Given the description of an element on the screen output the (x, y) to click on. 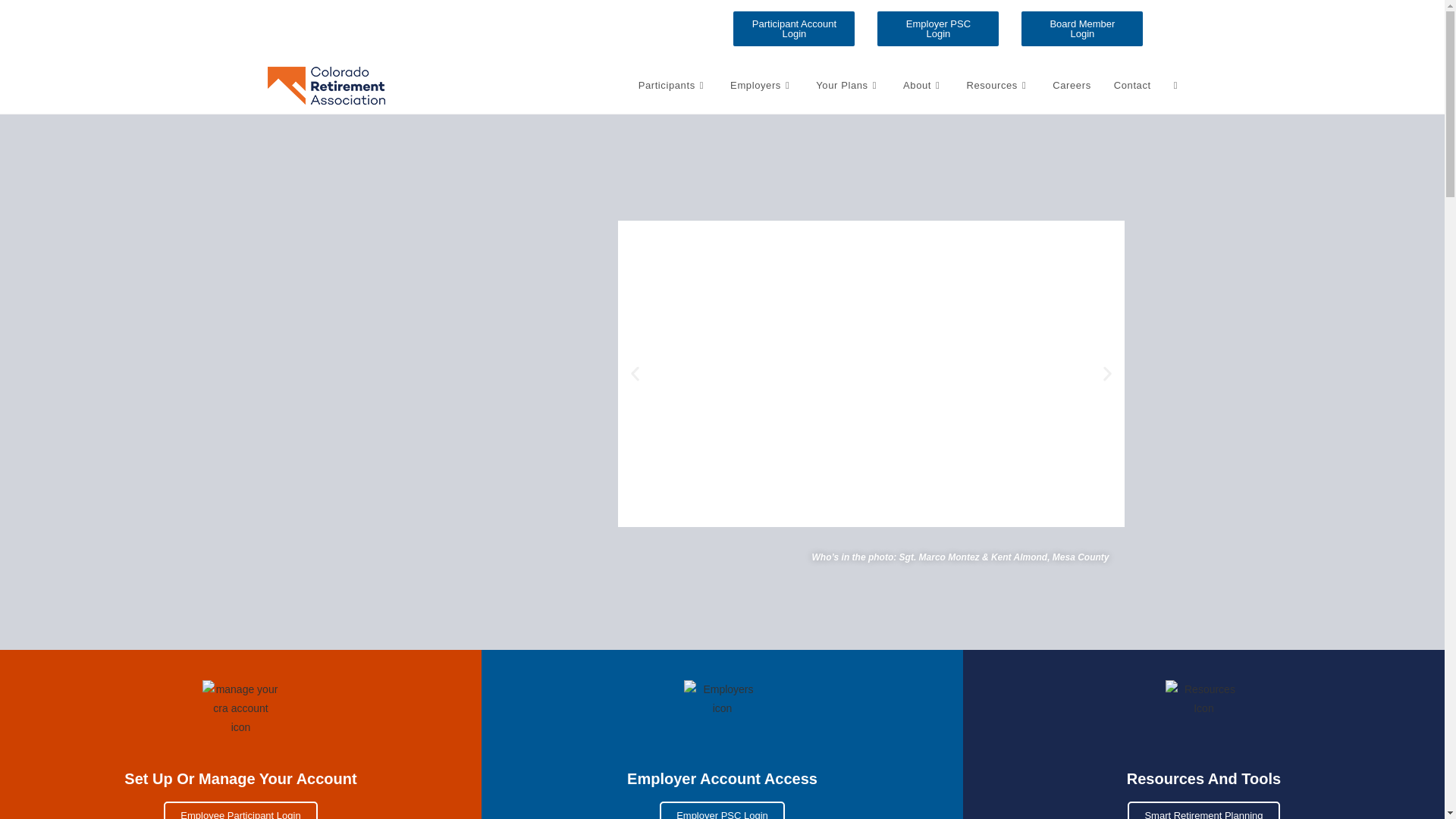
Board Member Login (1082, 28)
Your Plans (848, 85)
Employers (762, 85)
Participants (673, 85)
Employer PSC Login (937, 28)
Participant Account Login (793, 28)
